Given the description of an element on the screen output the (x, y) to click on. 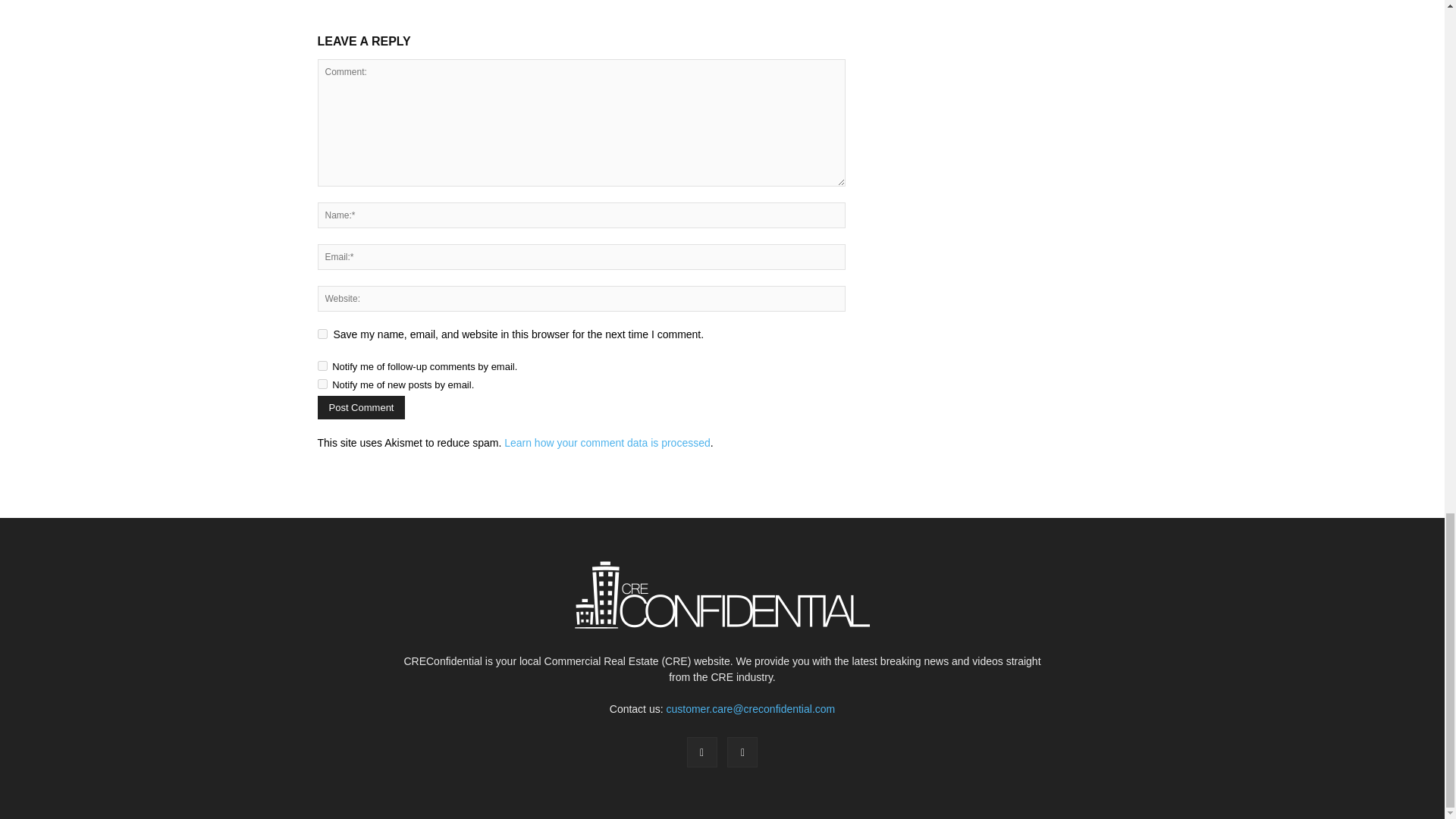
subscribe (321, 384)
yes (321, 334)
Post Comment (360, 407)
subscribe (321, 366)
